Given the description of an element on the screen output the (x, y) to click on. 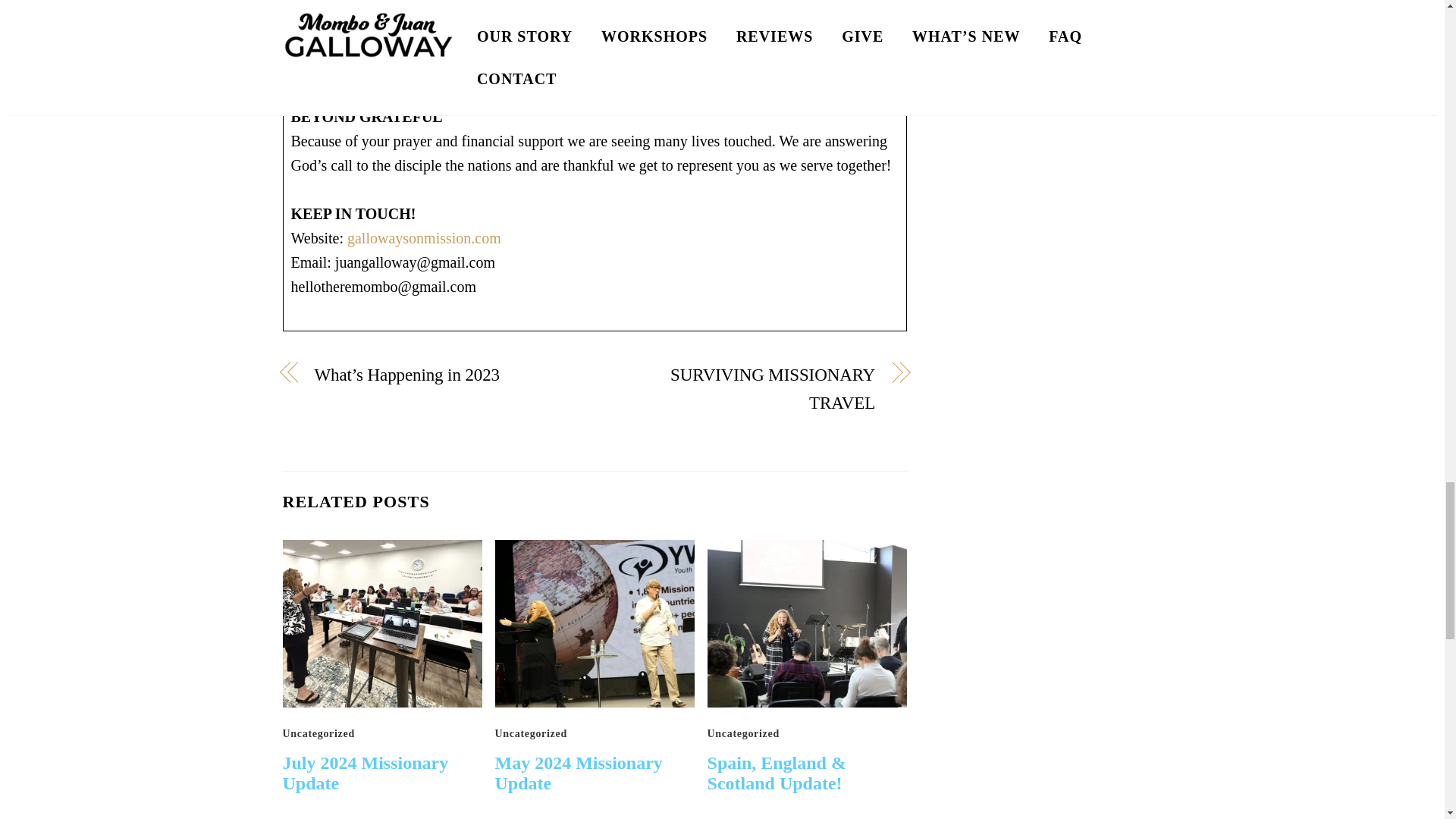
gallowaysonmission.com (423, 238)
SURVIVING MISSIONARY TRAVEL (743, 389)
July 2024 Missionary Update (365, 772)
Uncategorized (531, 733)
Uncategorized (742, 733)
2 Speaking (595, 623)
teaching group 2 (807, 623)
Uncategorized (317, 733)
sweet life (381, 623)
May 2024 Missionary Update (578, 772)
